Given the description of an element on the screen output the (x, y) to click on. 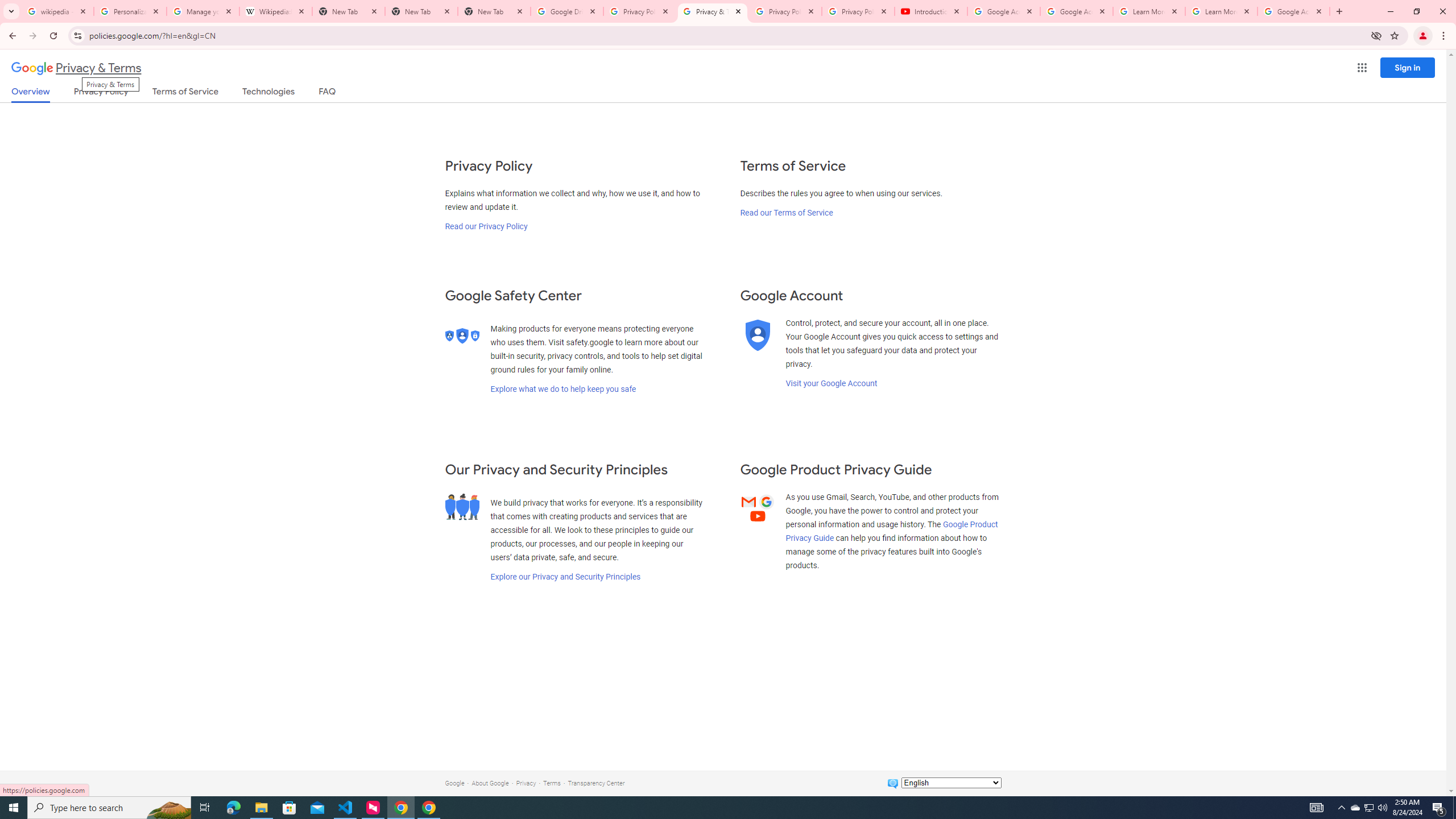
Visit your Google Account (830, 383)
New Tab (493, 11)
Personalization & Google Search results - Google Search Help (129, 11)
Explore our Privacy and Security Principles (565, 576)
Manage your Location History - Google Search Help (202, 11)
About Google (490, 783)
